Given the description of an element on the screen output the (x, y) to click on. 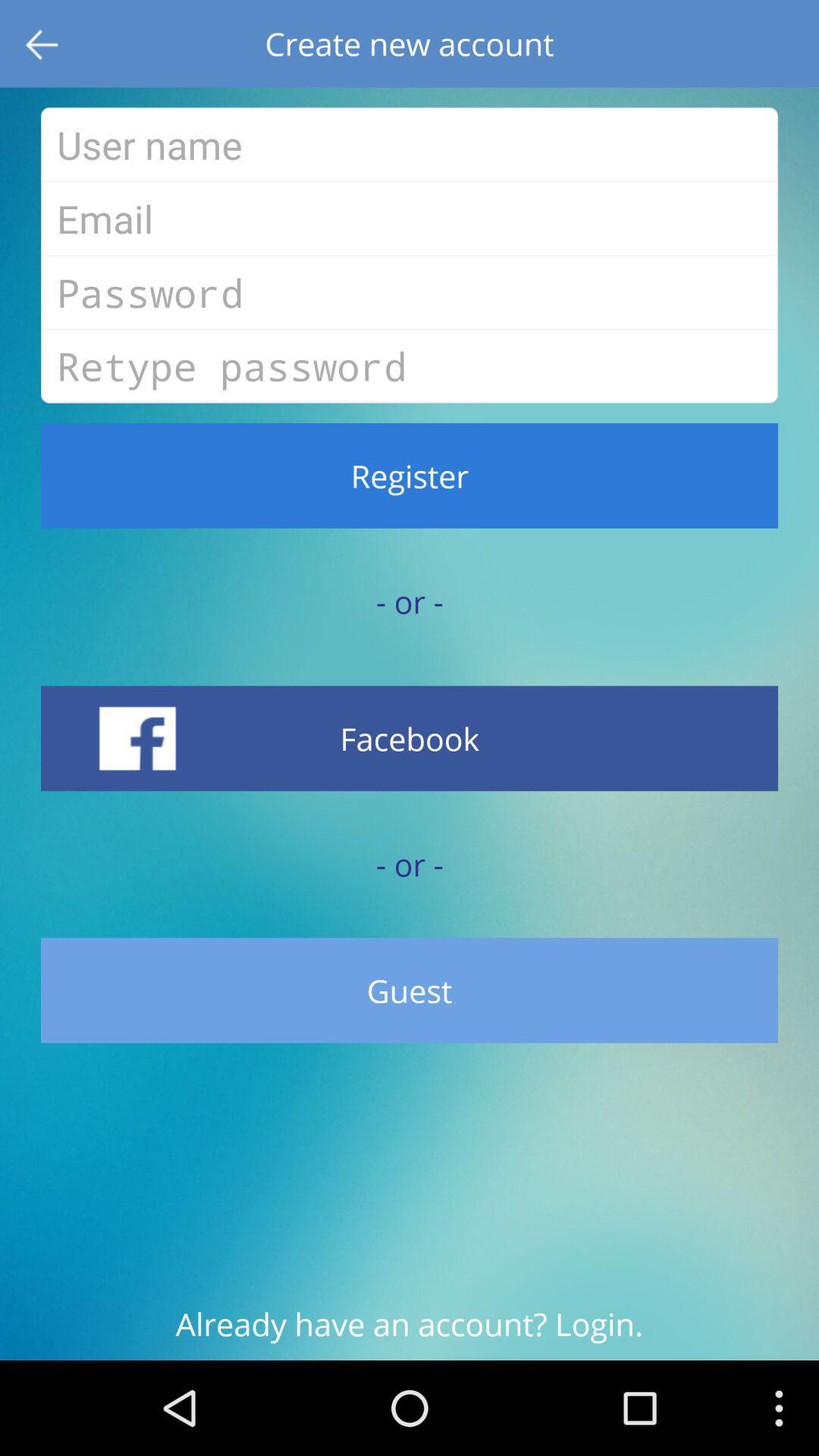
click on the facebook at the bottom of the page (409, 737)
click on the text bar below the user name (409, 218)
select the first text field on the web page (409, 143)
select the password text field on the web page (409, 292)
click on guest button (409, 990)
select text field above register (409, 366)
